Given the description of an element on the screen output the (x, y) to click on. 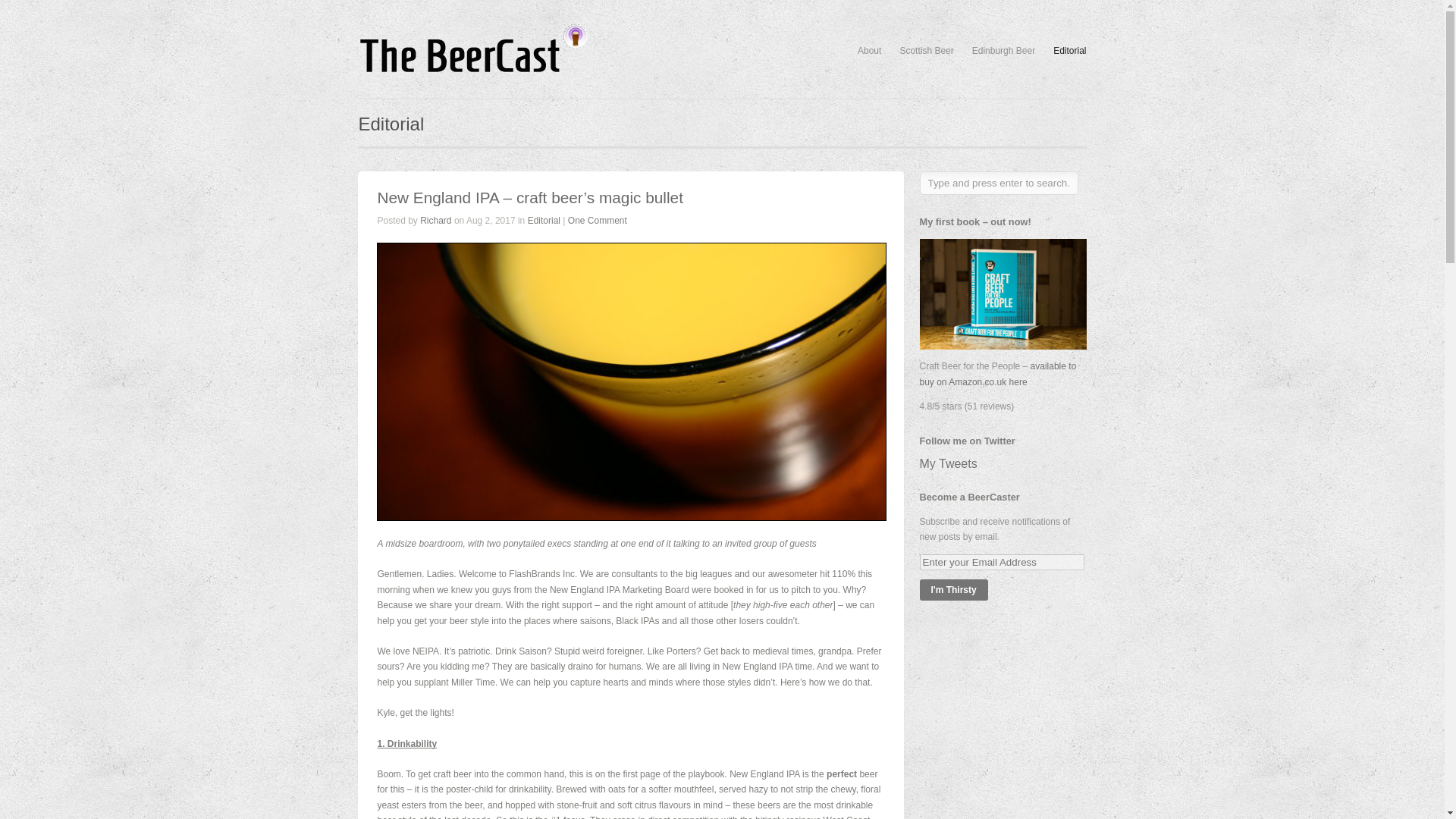
available to buy on Amazon.co.uk here (996, 373)
Editorial (1069, 50)
Editorial (543, 220)
Richard (435, 220)
I'm Thirsty (952, 589)
Type and press enter to search. (997, 182)
One Comment (597, 220)
My Tweets (947, 463)
Posts by Richard (435, 220)
Edinburgh Beer (1003, 50)
About (868, 50)
I'm Thirsty (952, 589)
Scottish Beer (926, 50)
